Given the description of an element on the screen output the (x, y) to click on. 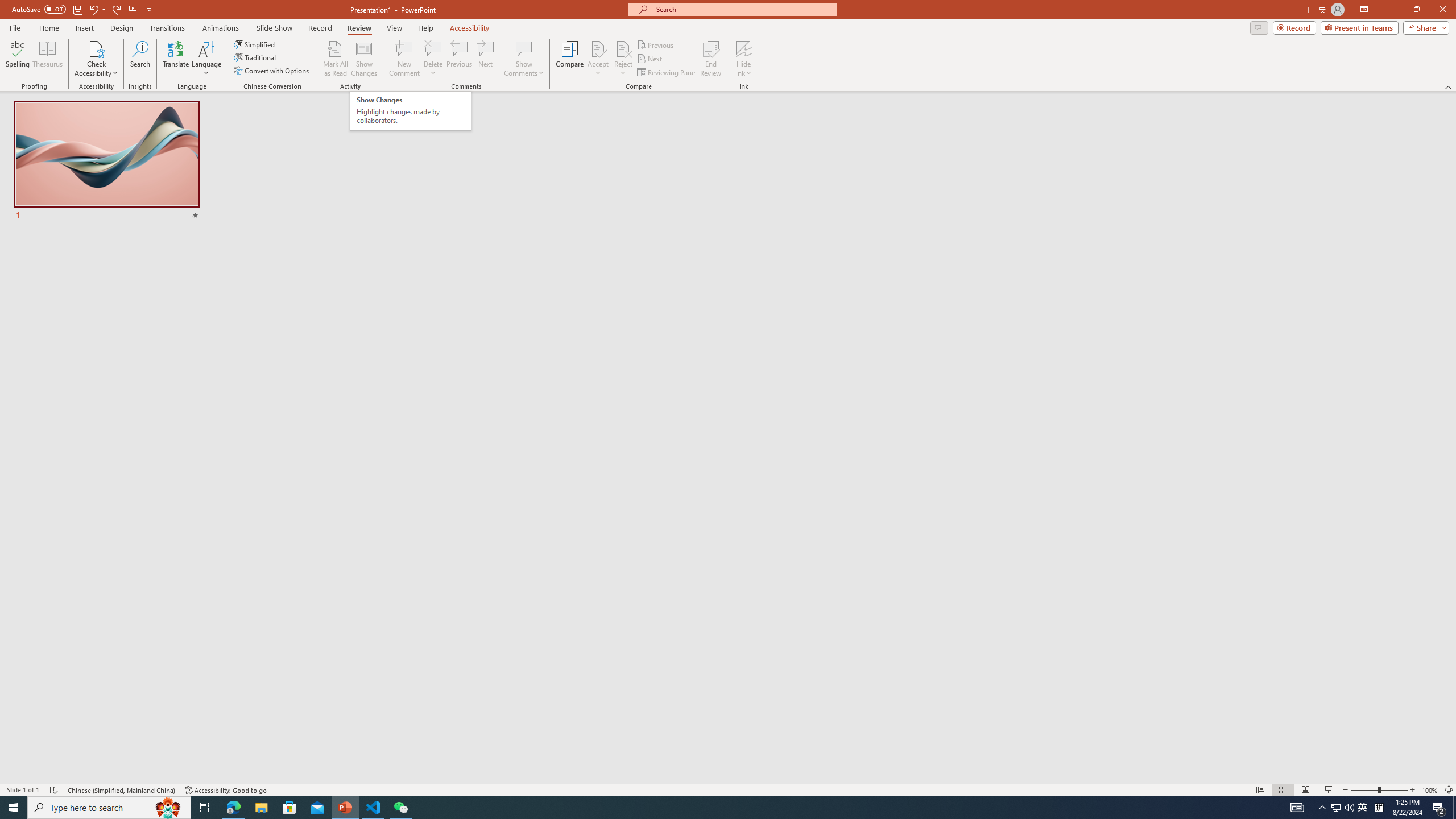
End Review (410, 111)
Accept (710, 58)
Show Changes (598, 58)
